Given the description of an element on the screen output the (x, y) to click on. 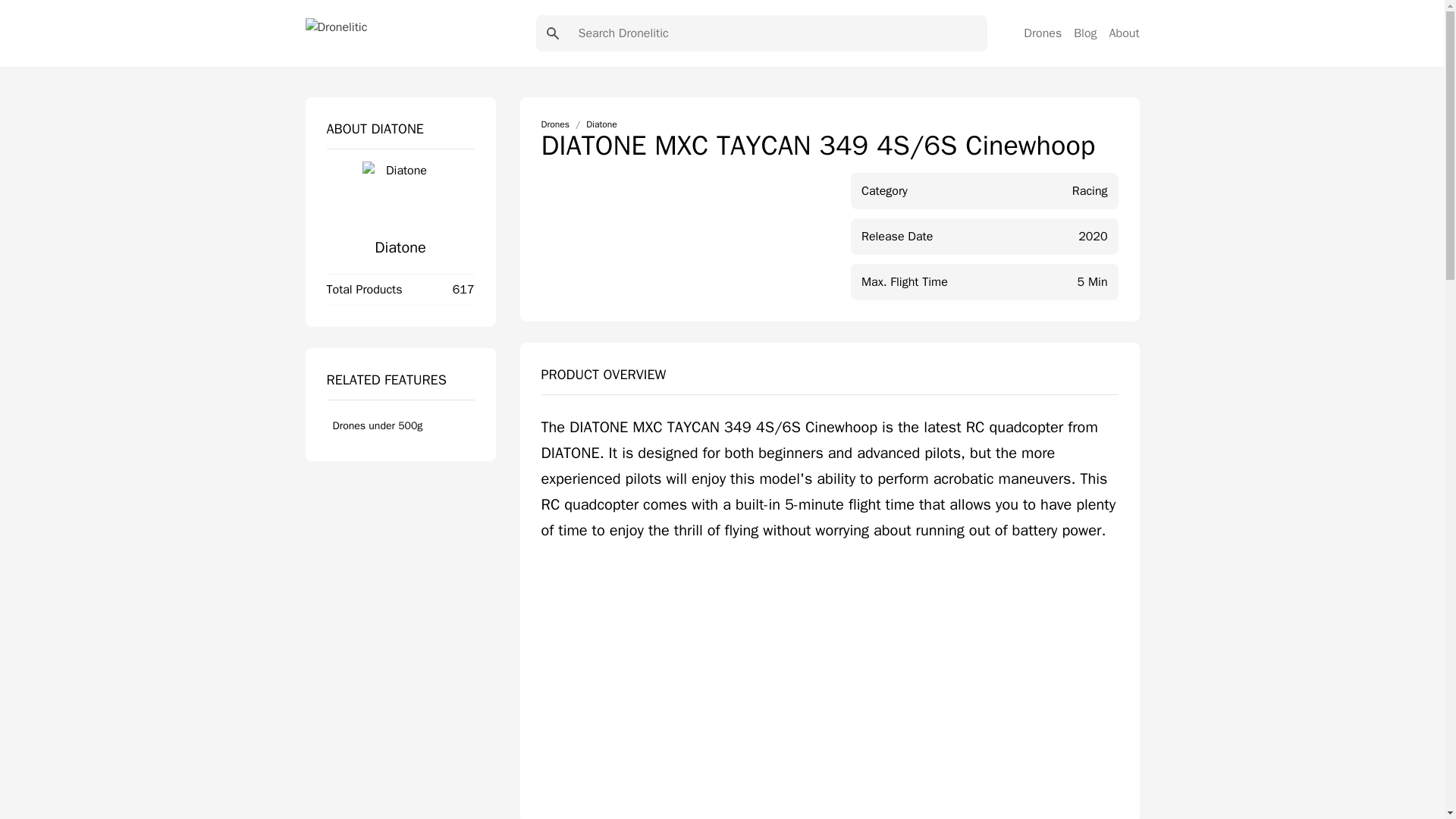
Drones (1042, 32)
Drones under 500g (400, 425)
Search Submit  (552, 33)
Drones (555, 123)
Diatone (399, 247)
Diatone (601, 123)
Blog (1085, 33)
About (1124, 32)
